Given the description of an element on the screen output the (x, y) to click on. 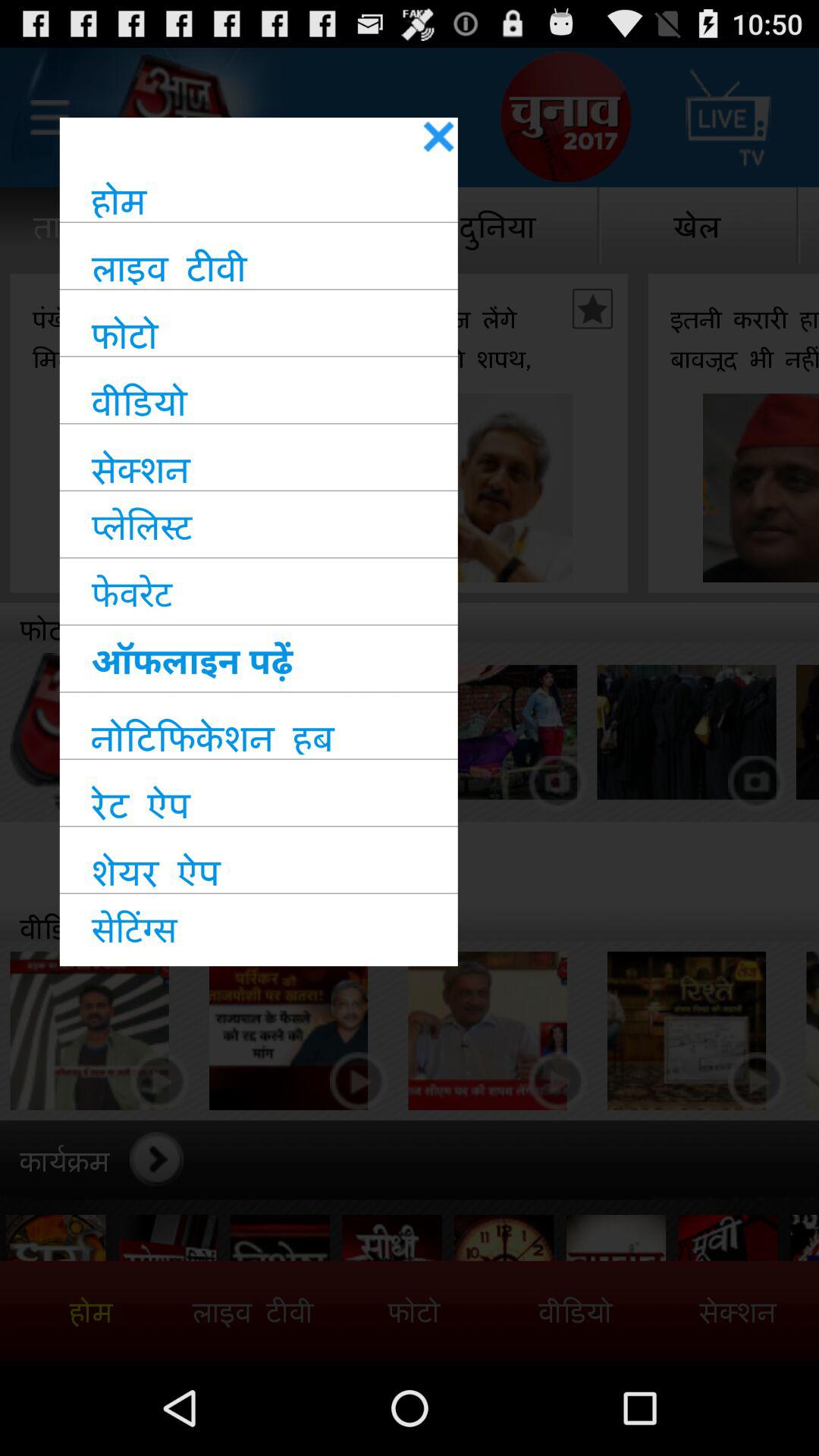
click on the 4th pause button (757, 1080)
